Given the description of an element on the screen output the (x, y) to click on. 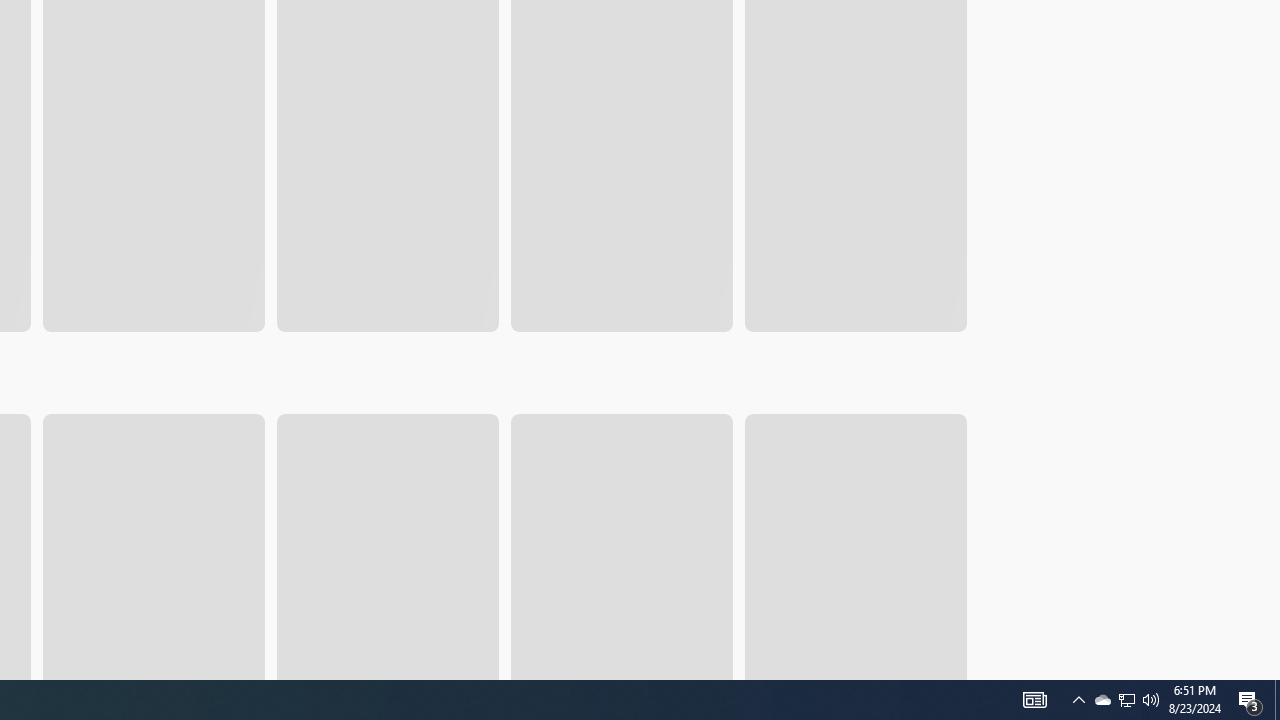
AutomationID: RightScrollButton (952, 454)
AutomationID: LeftScrollButton (913, 454)
